Given the description of an element on the screen output the (x, y) to click on. 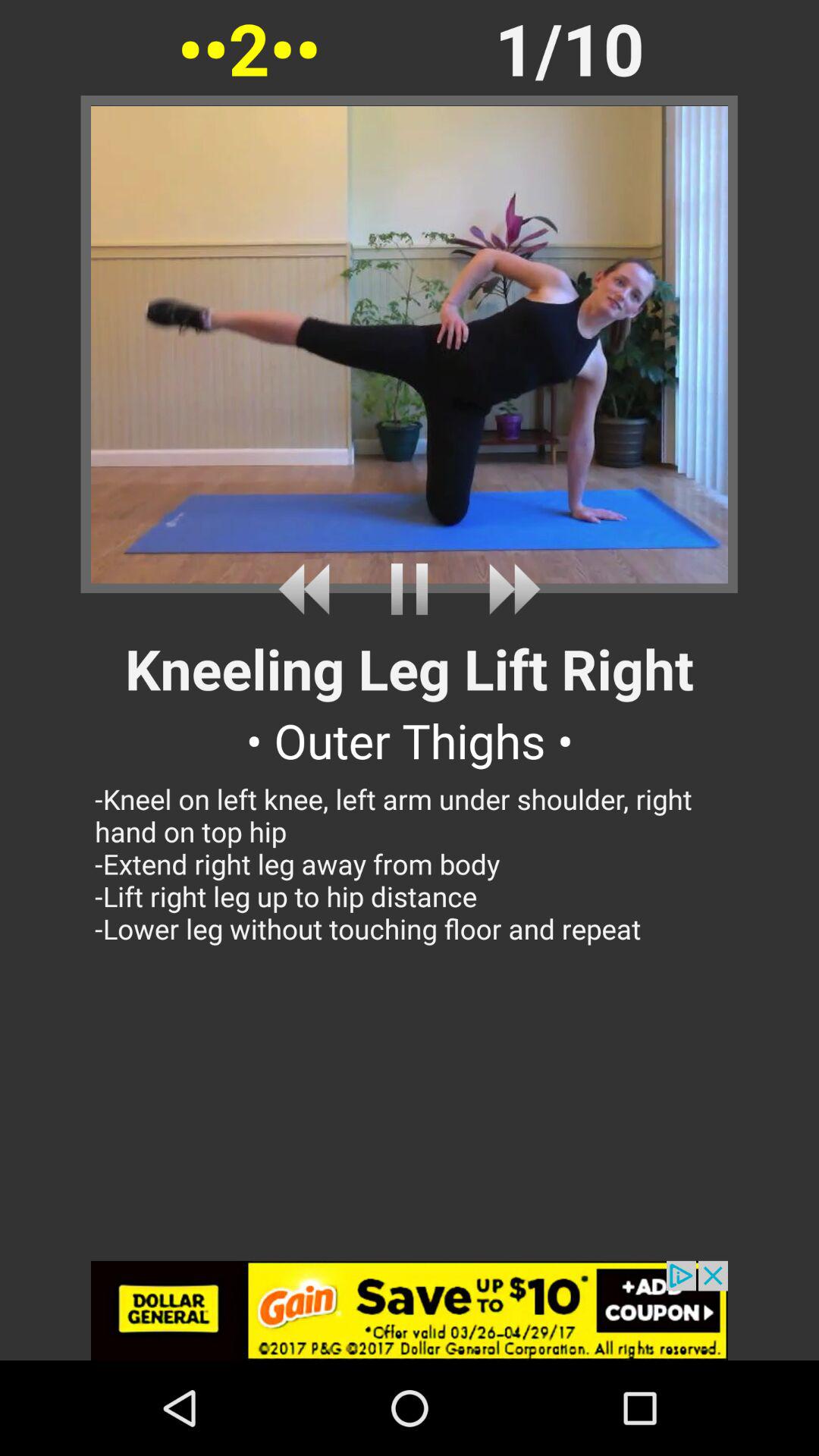
go to backward (309, 589)
